Given the description of an element on the screen output the (x, y) to click on. 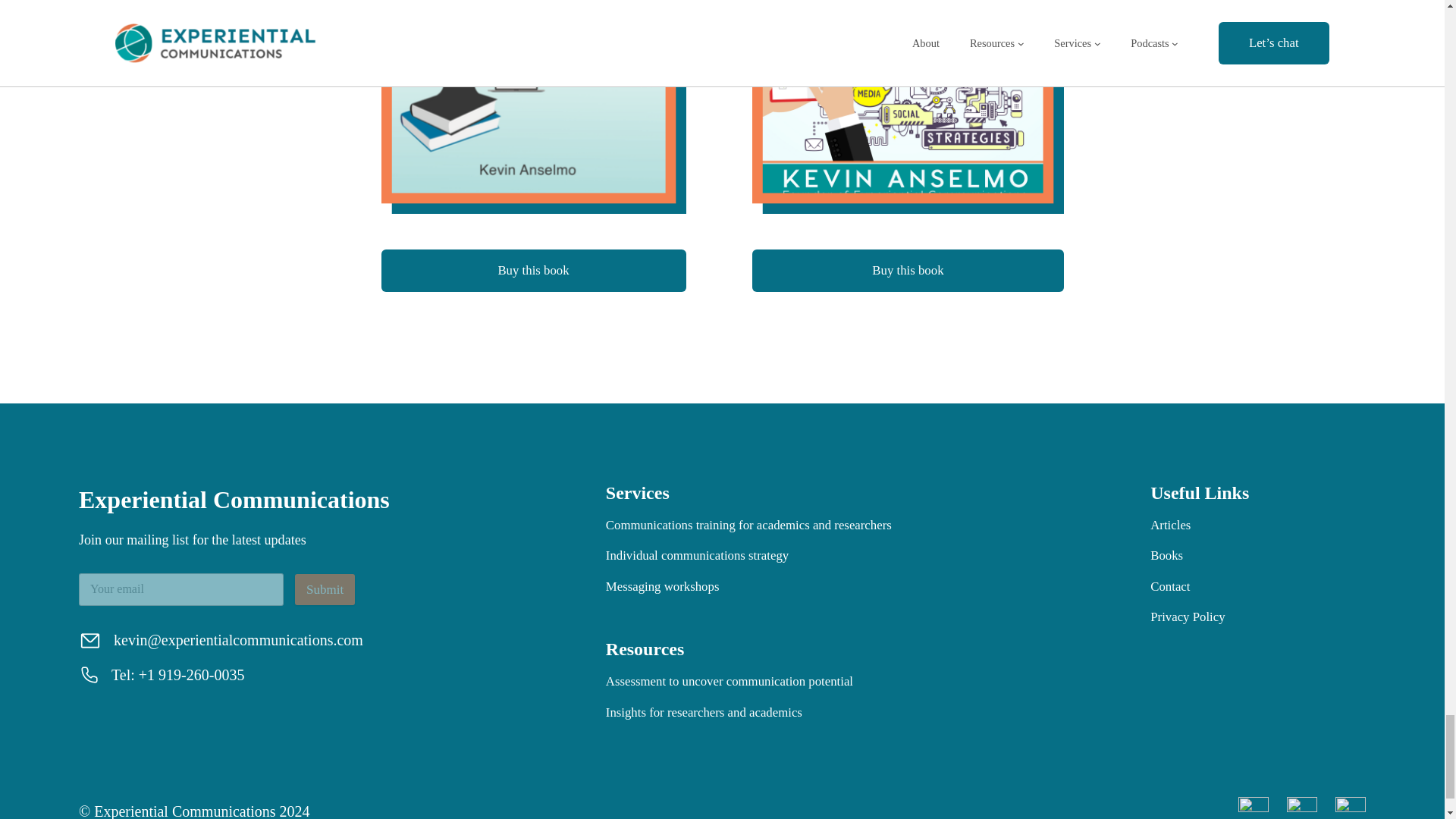
Buy this book (532, 270)
Experiential Communications (234, 499)
Buy this book (907, 270)
Messaging workshops (662, 587)
Submit (325, 589)
Individual communications strategy (697, 556)
Communications training for academics and researchers (748, 525)
